Given the description of an element on the screen output the (x, y) to click on. 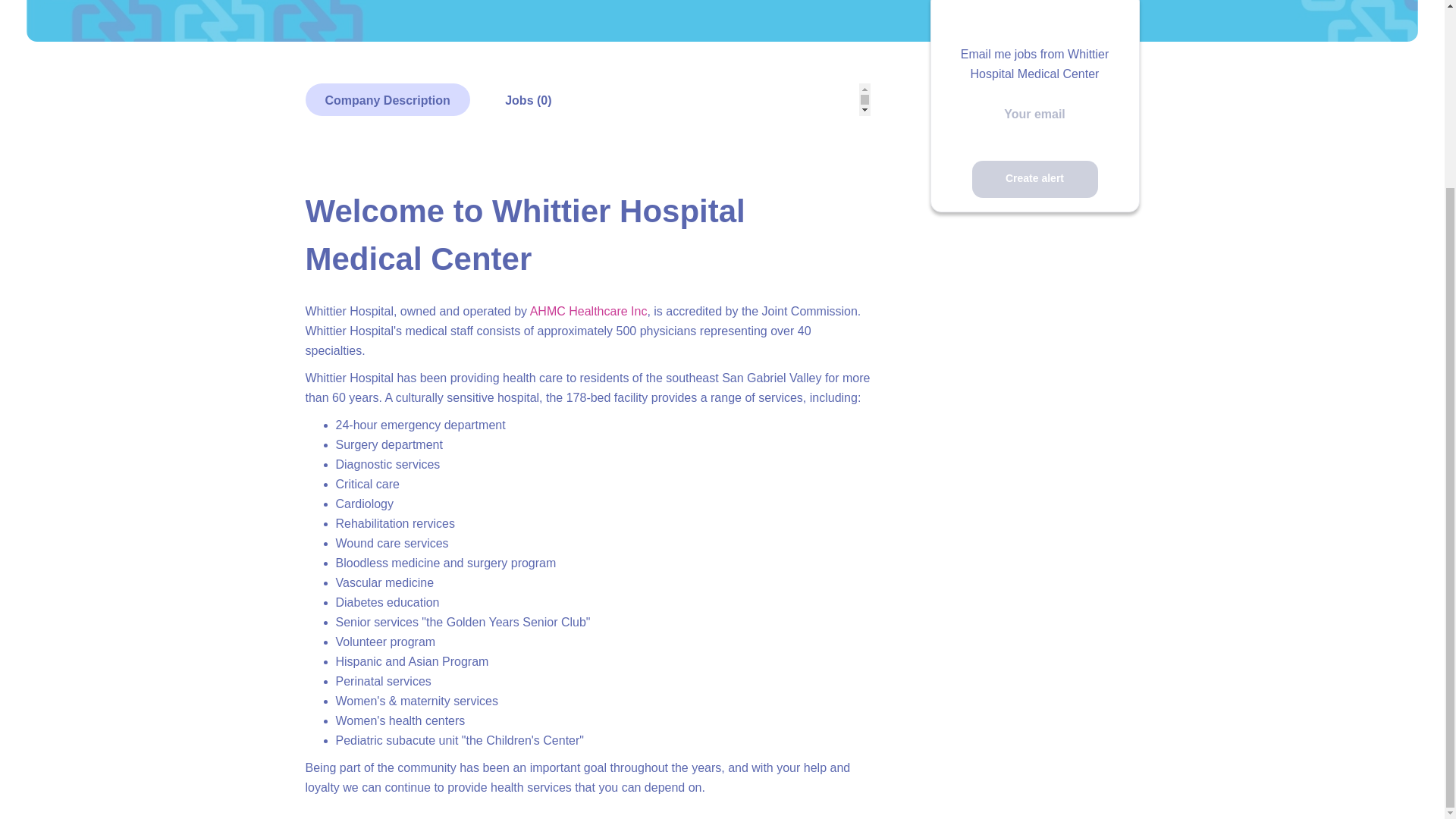
Company Description (386, 99)
AHMC Healthcare Inc (588, 310)
Create alert (1034, 179)
Create alert (1034, 179)
